Given the description of an element on the screen output the (x, y) to click on. 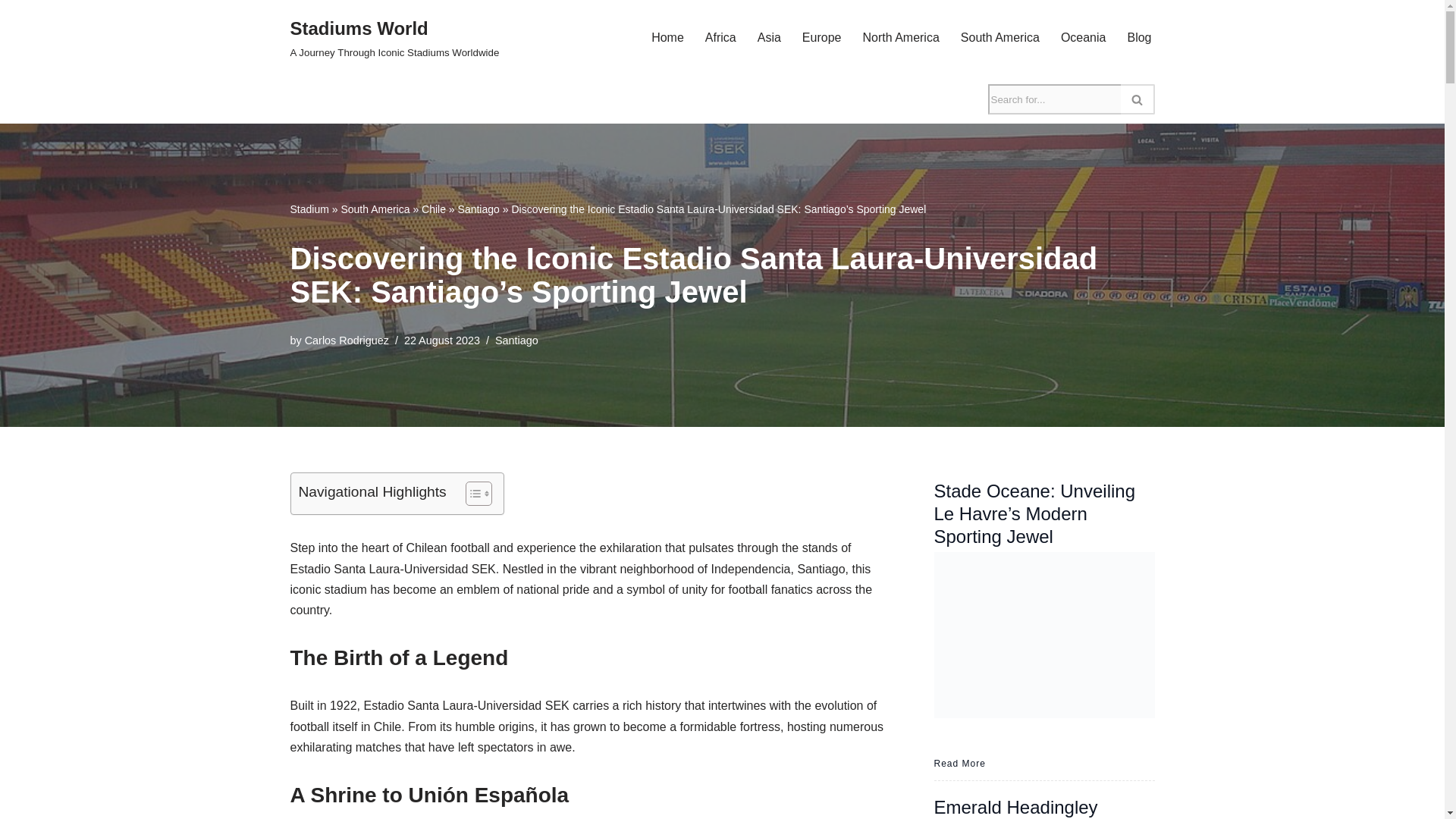
North America (900, 37)
Skip to content (11, 31)
Oceania (1083, 37)
Carlos Rodriguez (346, 340)
South America (374, 209)
Blog (1138, 37)
Stadium (394, 37)
Asia (309, 209)
Africa (768, 37)
